Given the description of an element on the screen output the (x, y) to click on. 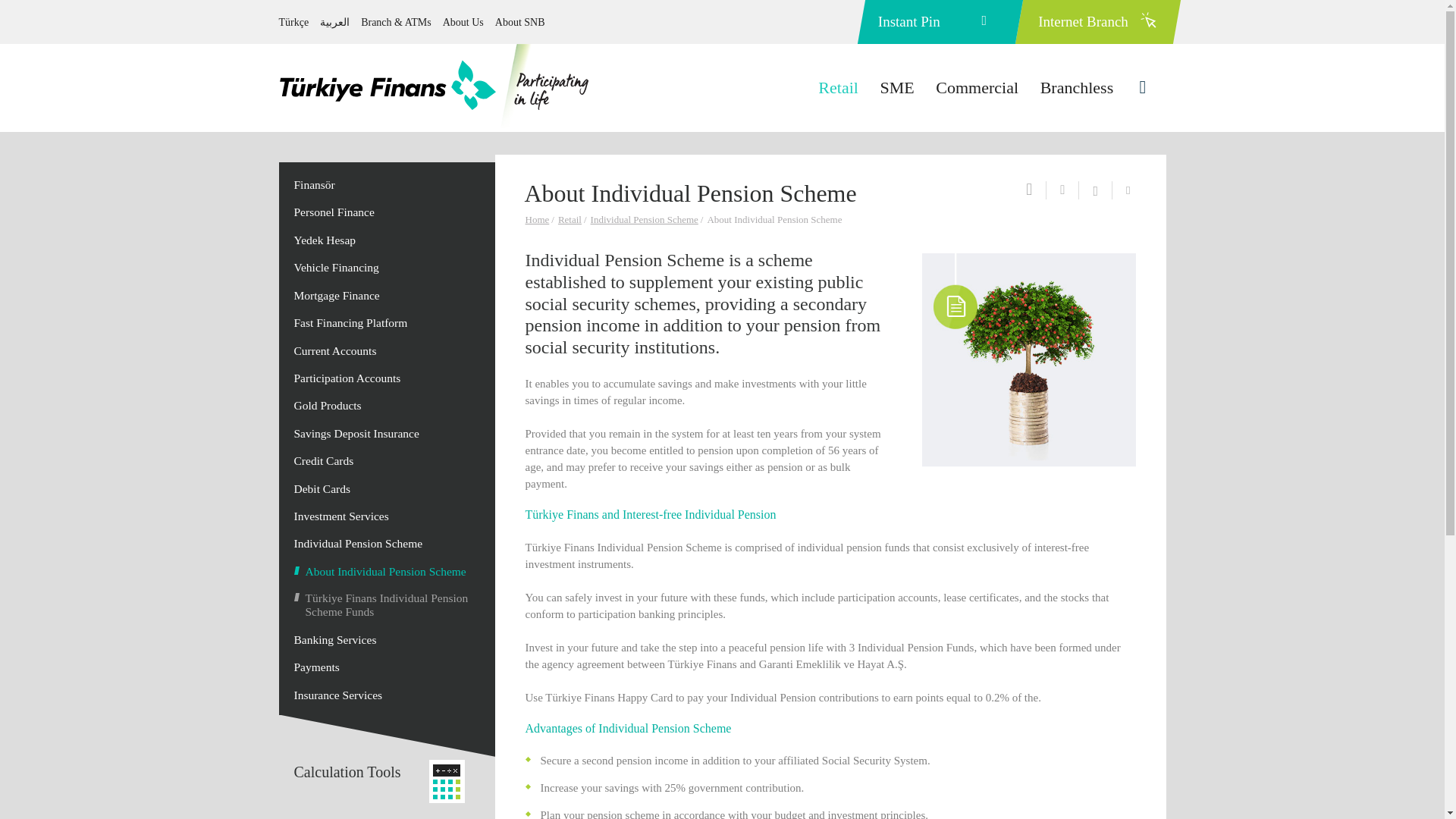
Ana Sayfa (435, 85)
Individual Pension Scheme (645, 219)
About Us (462, 21)
Internet Branch (1097, 22)
Retail (570, 219)
Instant Pin (940, 22)
Home (537, 219)
About SNB (519, 21)
